Given the description of an element on the screen output the (x, y) to click on. 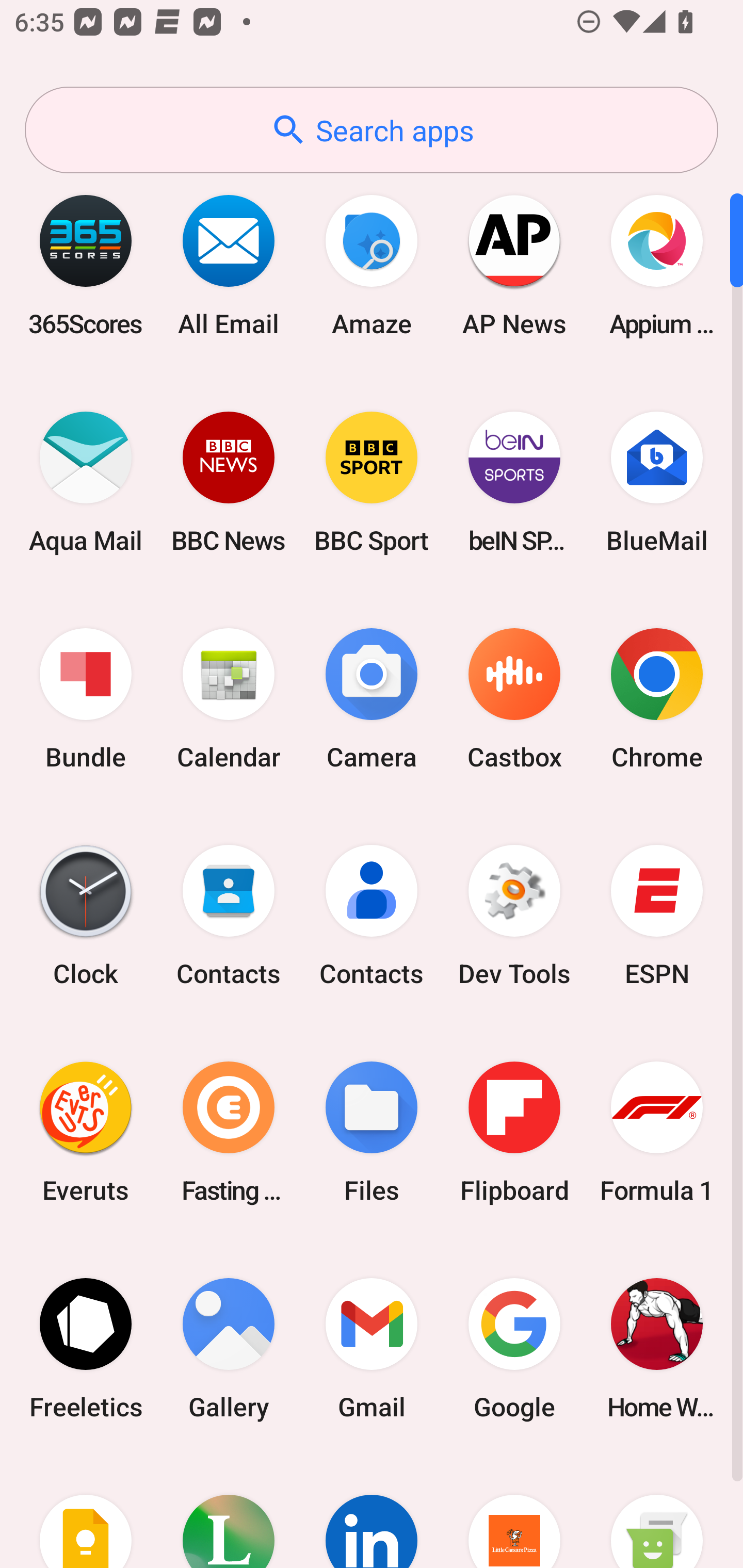
  Search apps (371, 130)
365Scores (85, 264)
All Email (228, 264)
Amaze (371, 264)
AP News (514, 264)
Appium Settings (656, 264)
Aqua Mail (85, 482)
BBC News (228, 482)
BBC Sport (371, 482)
beIN SPORTS (514, 482)
BlueMail (656, 482)
Bundle (85, 699)
Calendar (228, 699)
Camera (371, 699)
Castbox (514, 699)
Chrome (656, 699)
Clock (85, 915)
Contacts (228, 915)
Contacts (371, 915)
Dev Tools (514, 915)
ESPN (656, 915)
Everuts (85, 1131)
Fasting Coach (228, 1131)
Files (371, 1131)
Flipboard (514, 1131)
Formula 1 (656, 1131)
Freeletics (85, 1348)
Gallery (228, 1348)
Gmail (371, 1348)
Google (514, 1348)
Home Workout (656, 1348)
